Given the description of an element on the screen output the (x, y) to click on. 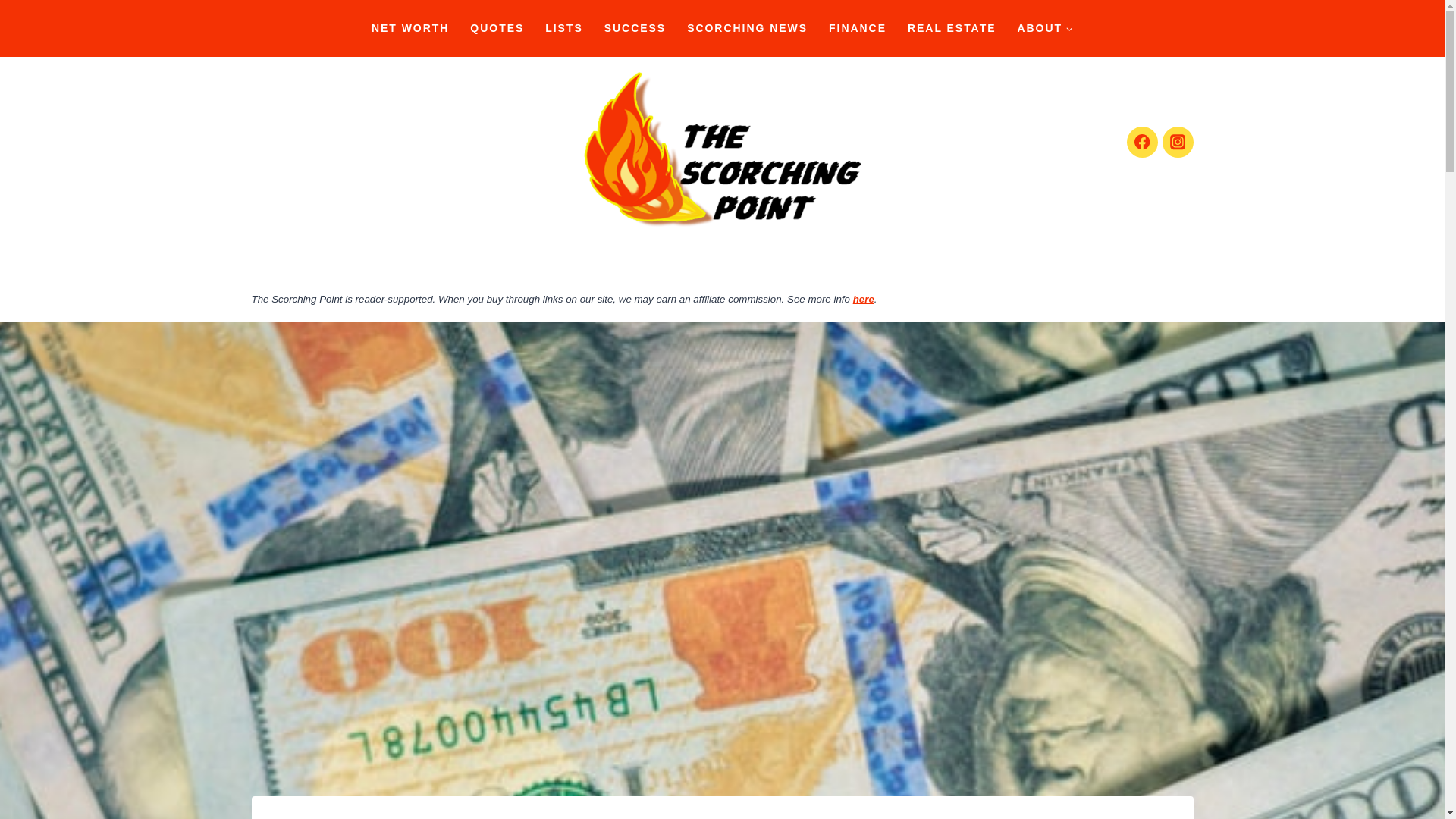
ABOUT (1044, 28)
FINANCE (857, 28)
here (864, 298)
QUOTES (497, 28)
SUCCESS (635, 28)
LISTS (563, 28)
REAL ESTATE (951, 28)
NET WORTH (410, 28)
SCORCHING NEWS (747, 28)
